Given the description of an element on the screen output the (x, y) to click on. 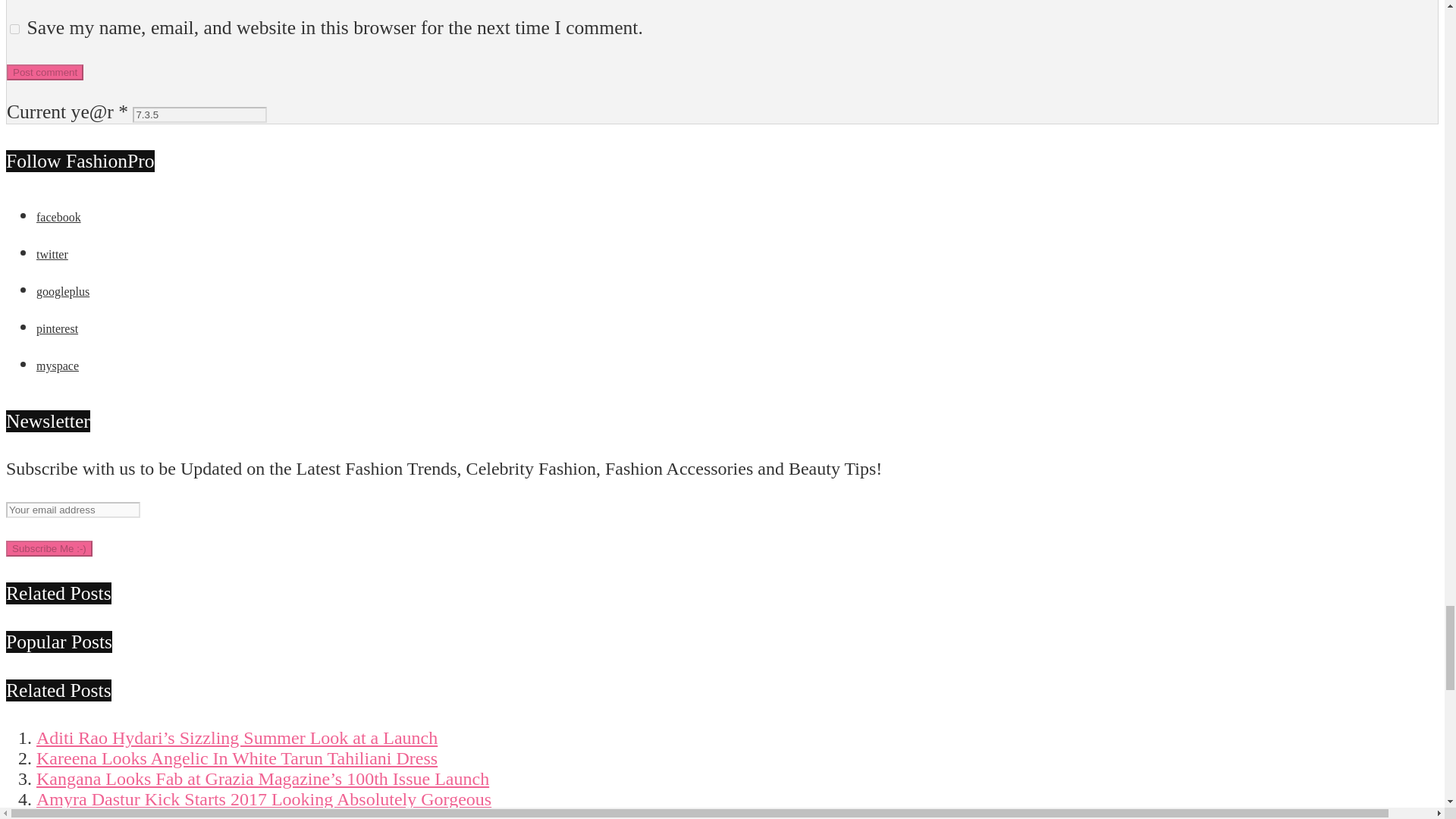
7.3.5 (199, 114)
Facebook (58, 216)
Pinterest (57, 328)
yes (15, 29)
Myspace (57, 365)
Post comment (44, 72)
